Given the description of an element on the screen output the (x, y) to click on. 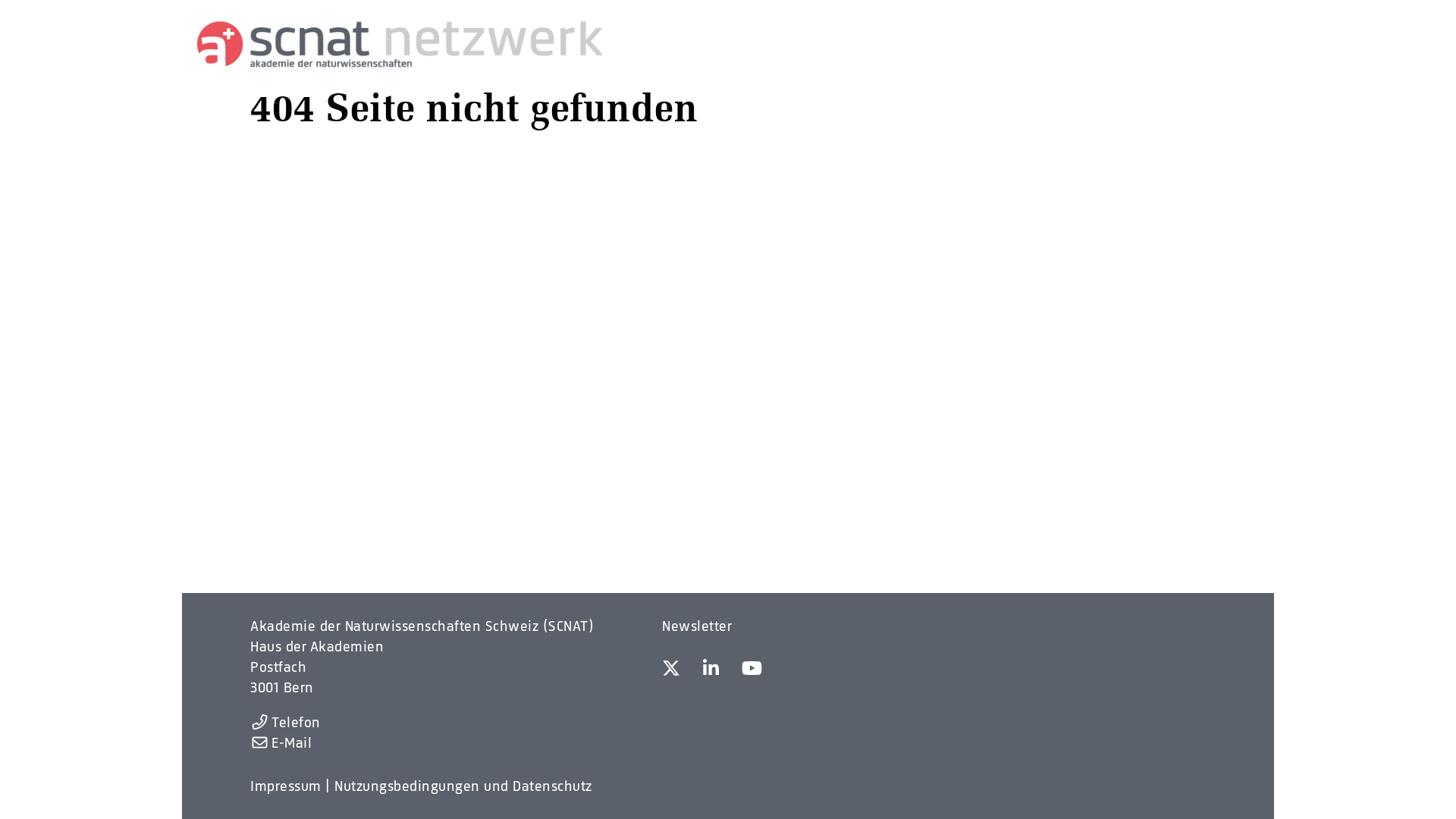
X Element type: hover (671, 669)
LinkedIn Element type: hover (710, 669)
Impressum Element type: text (285, 785)
E-Mail Element type: text (280, 742)
Telefon Element type: text (285, 722)
Nutzungsbedingungen und Datenschutz Element type: text (463, 785)
Newsletter Element type: text (696, 625)
YouTube Element type: hover (751, 669)
